Given the description of an element on the screen output the (x, y) to click on. 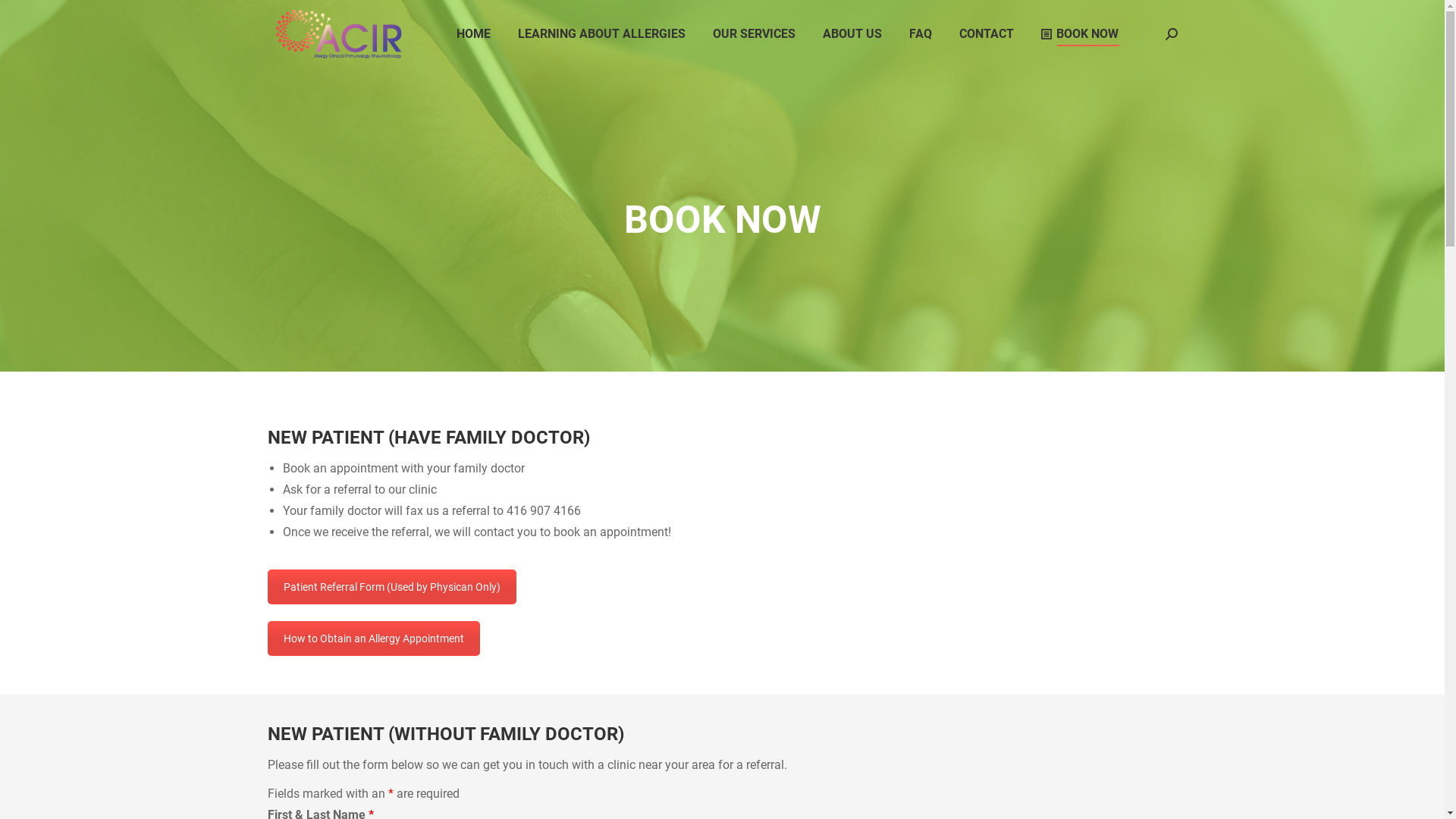
Go! Element type: text (23, 16)
Patient Referral Form (Used by Physican Only) Element type: text (390, 586)
FAQ Element type: text (919, 33)
ABOUT US Element type: text (851, 33)
BOOK NOW Element type: text (1078, 33)
HOME Element type: text (473, 33)
OUR SERVICES Element type: text (753, 33)
CONTACT Element type: text (985, 33)
LEARNING ABOUT ALLERGIES Element type: text (600, 33)
How to Obtain an Allergy Appointment Element type: text (372, 638)
